Given the description of an element on the screen output the (x, y) to click on. 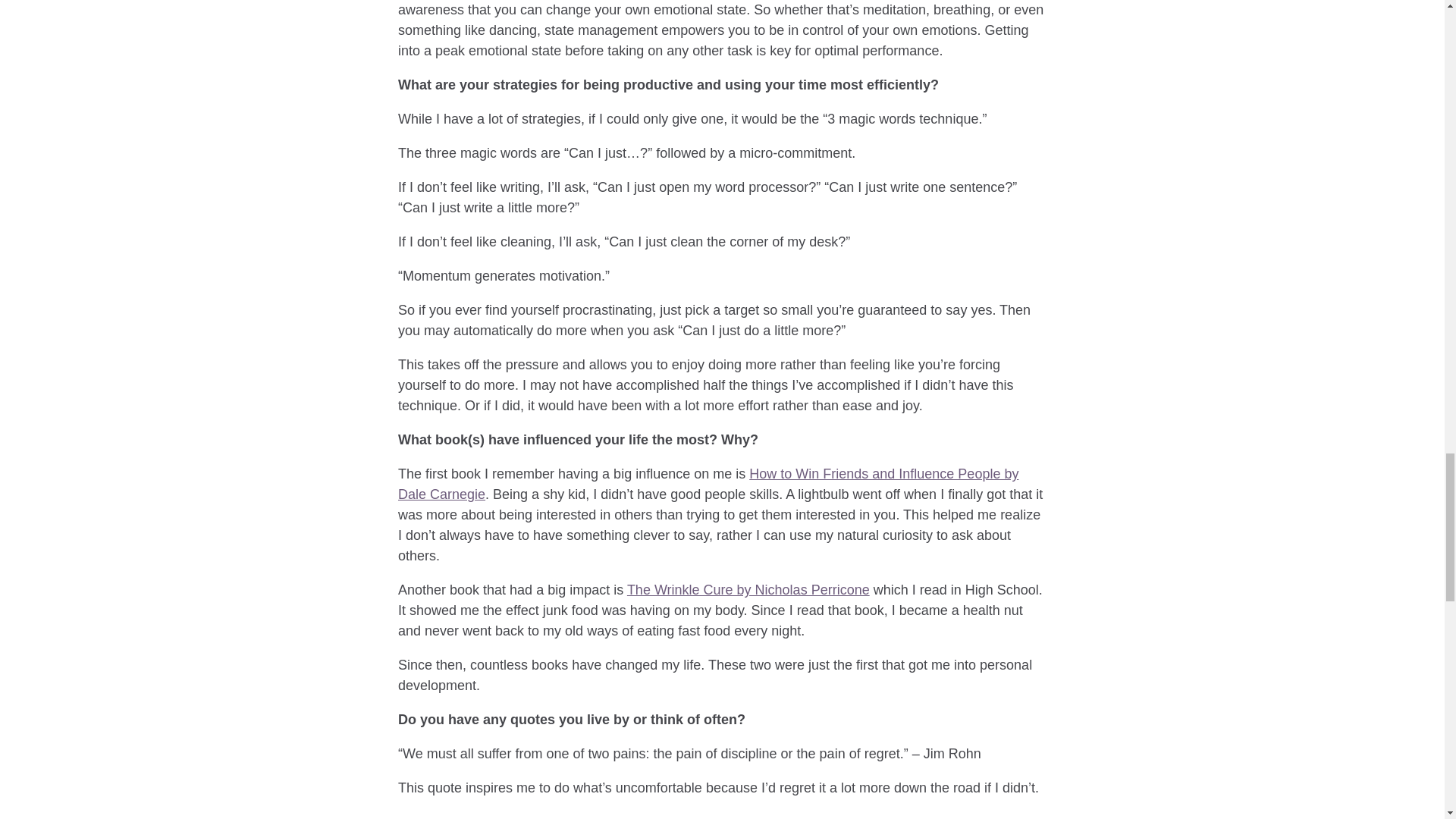
The Wrinkle Cure by Nicholas Perricone (748, 589)
How to Win Friends and Influence People by Dale Carnegie (707, 484)
